Given the description of an element on the screen output the (x, y) to click on. 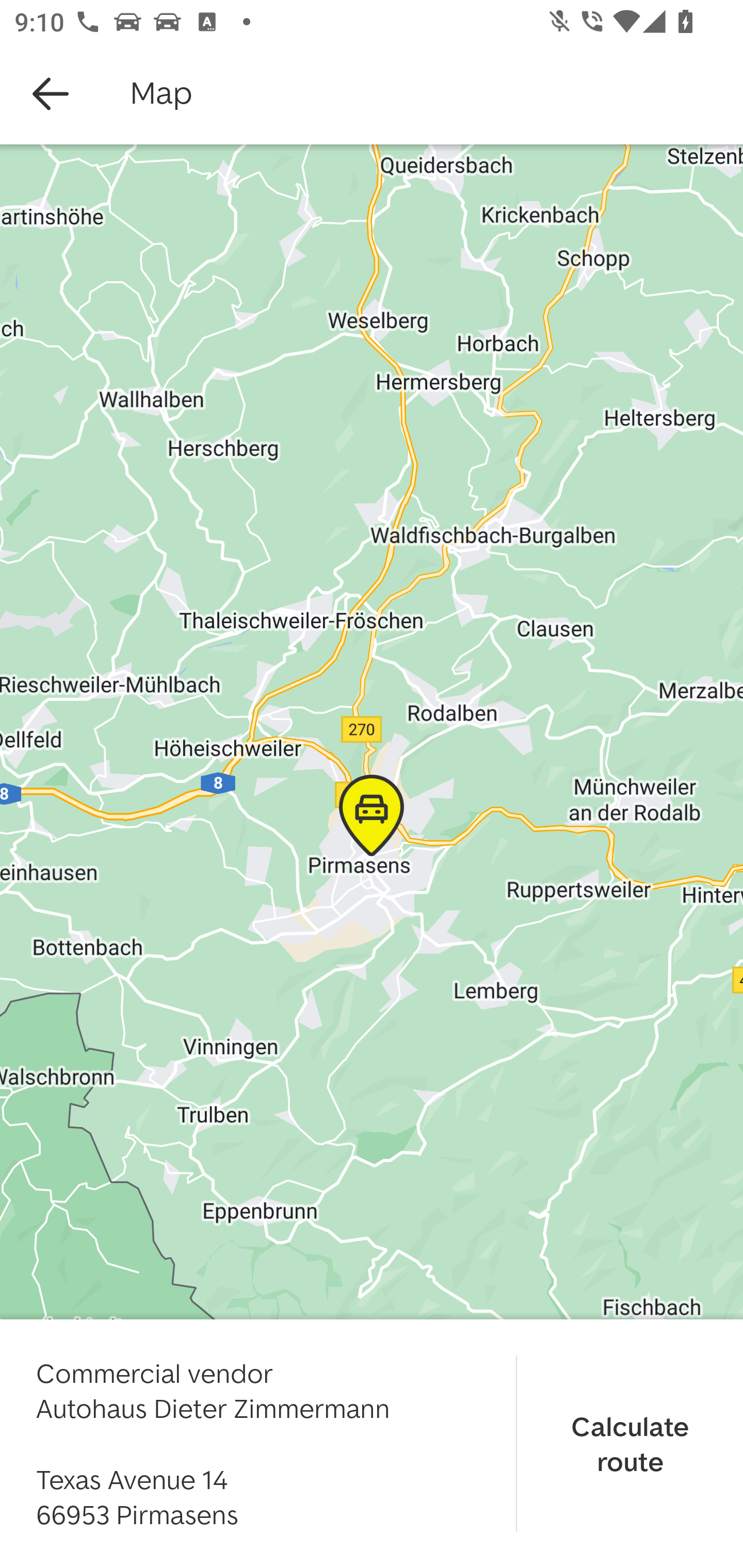
Navigate up (50, 93)
Calculate route (630, 1443)
